Given the description of an element on the screen output the (x, y) to click on. 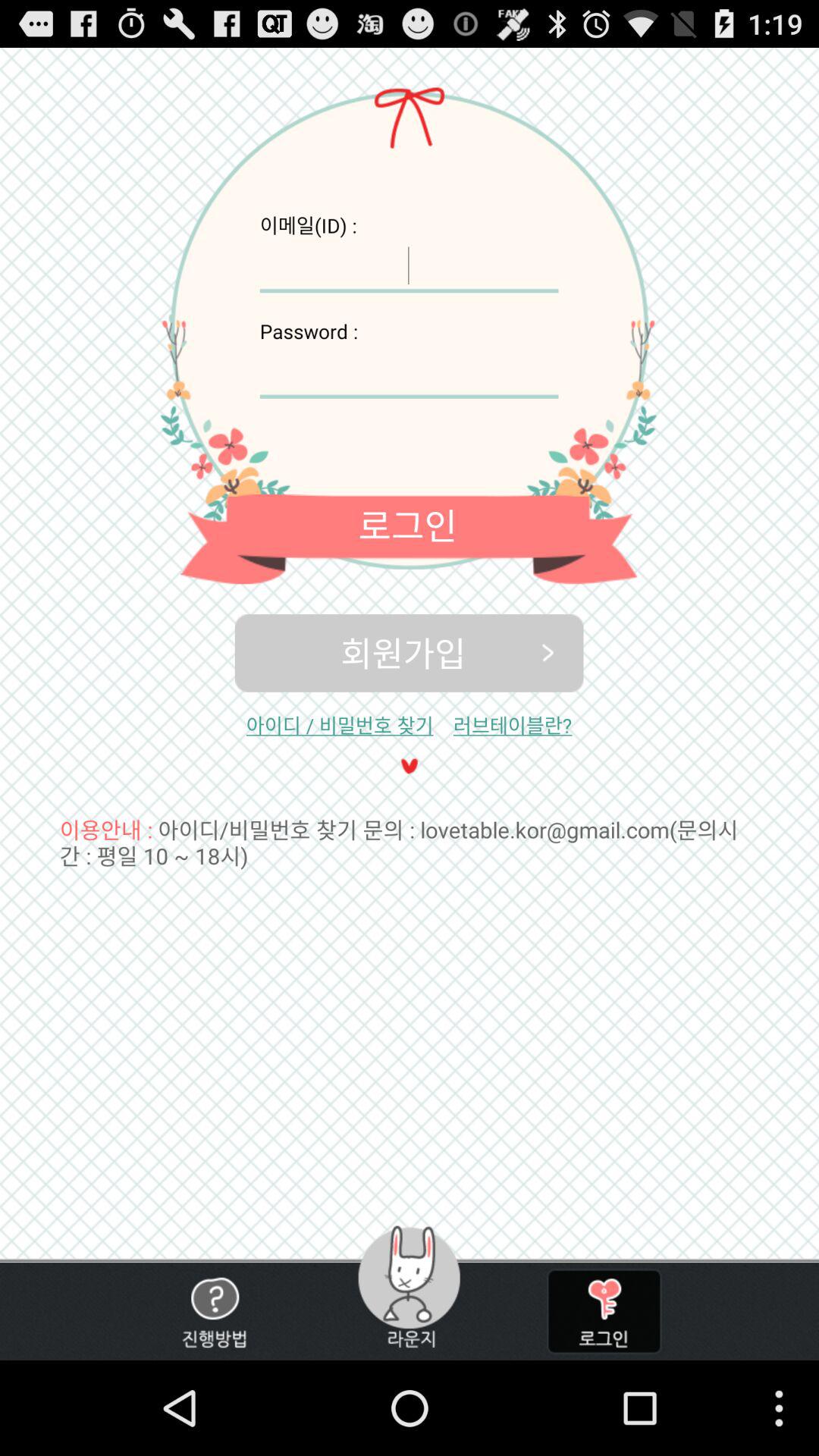
enter password (408, 371)
